Given the description of an element on the screen output the (x, y) to click on. 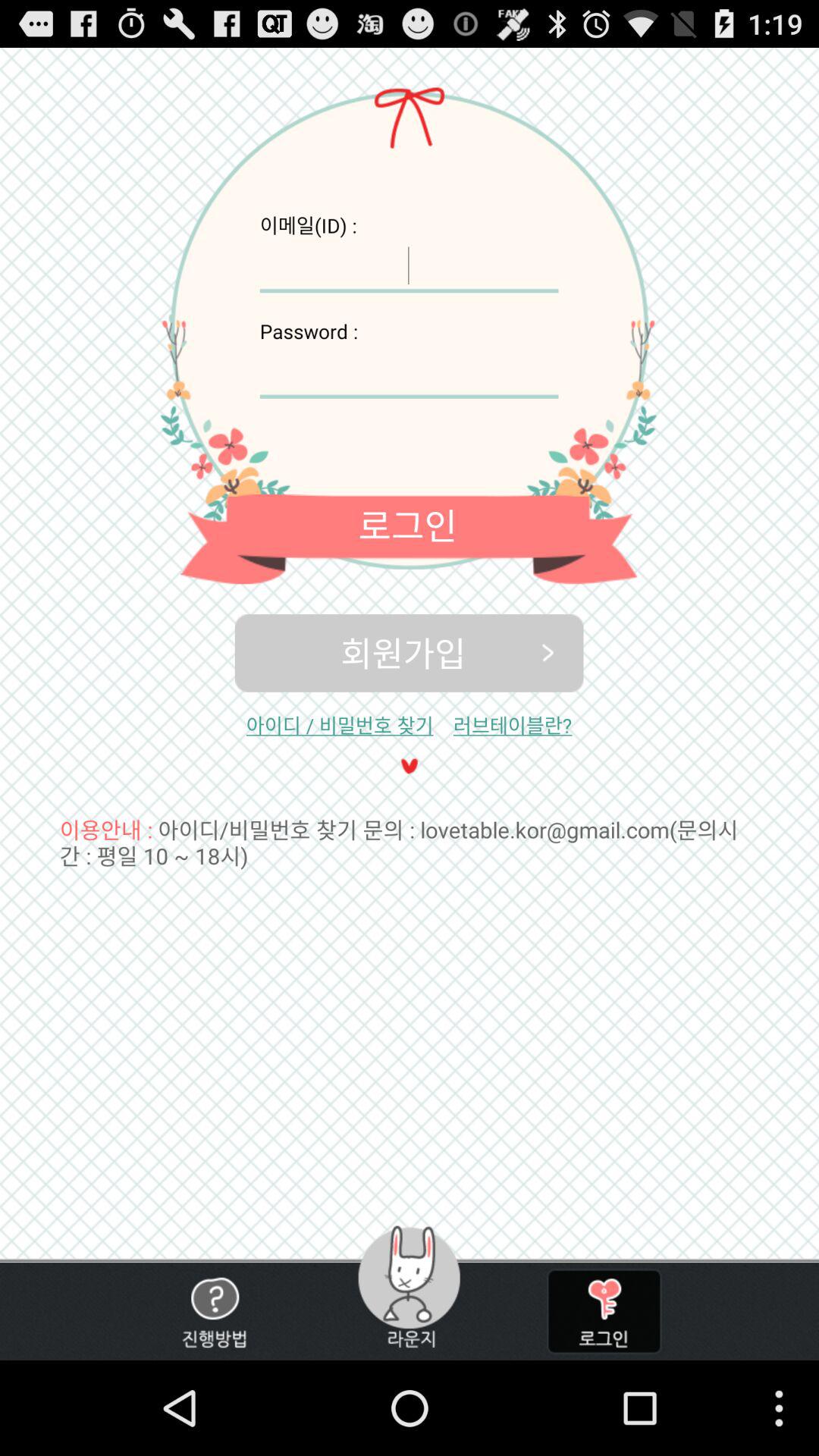
enter password (408, 371)
